Given the description of an element on the screen output the (x, y) to click on. 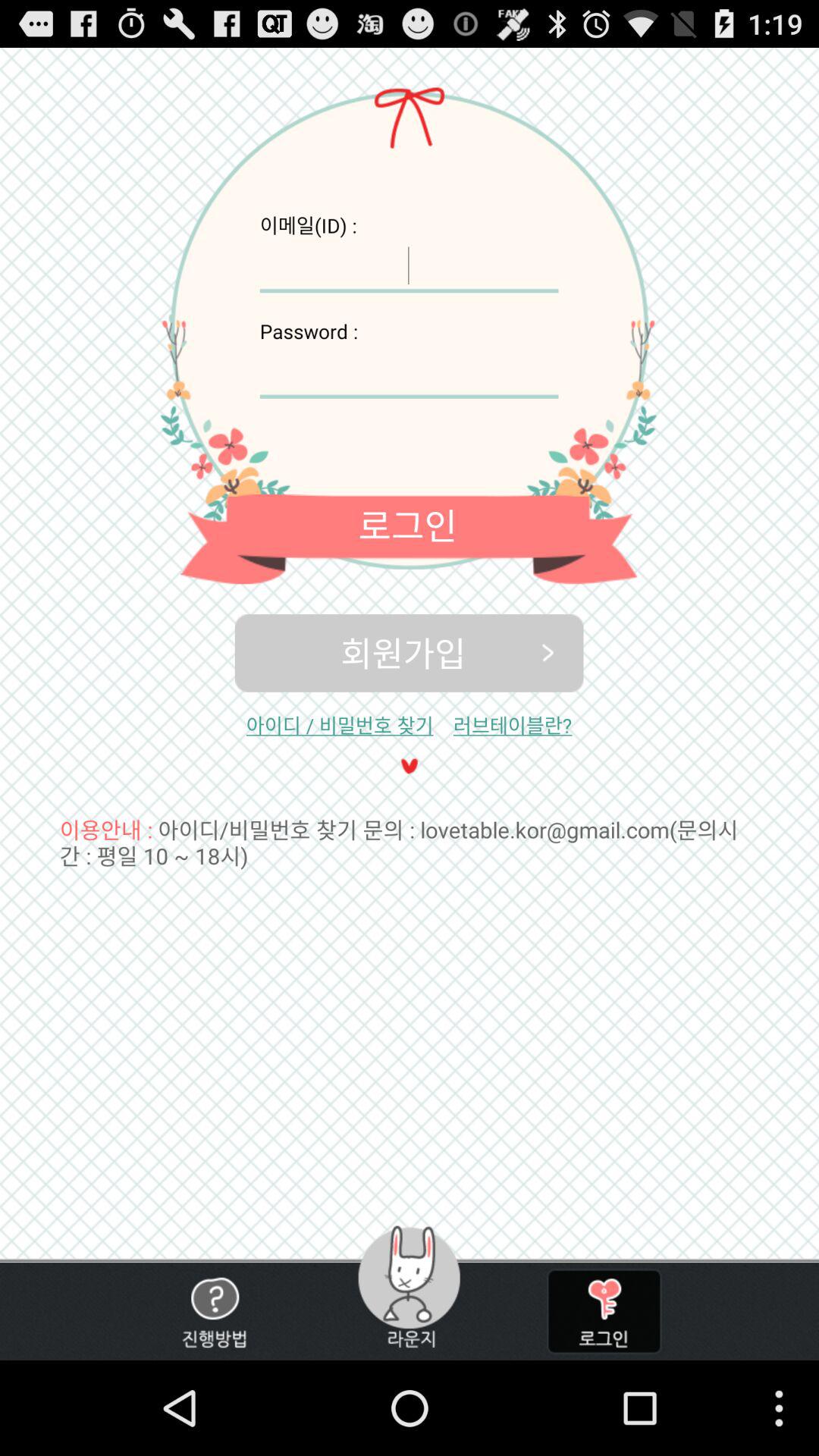
enter password (408, 371)
